Given the description of an element on the screen output the (x, y) to click on. 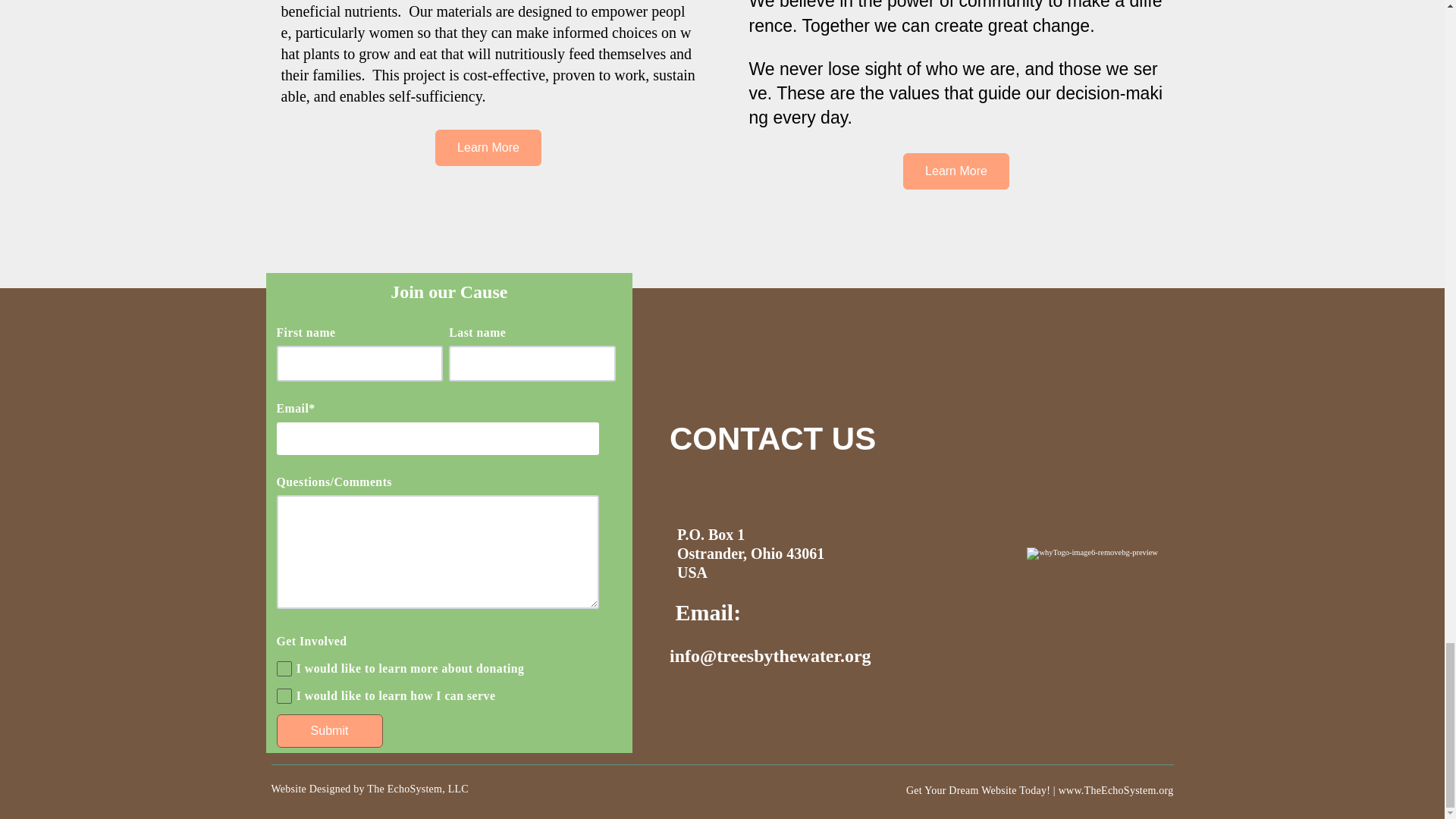
I would like to learn how I can serve (283, 695)
www.TheEchoSystem.org (1115, 790)
Learn More (955, 171)
whyTogo-image6-removebg-preview (1091, 553)
Submit (328, 730)
I would like to learn more about donating (283, 668)
Submit (328, 730)
Learn More (488, 147)
